Given the description of an element on the screen output the (x, y) to click on. 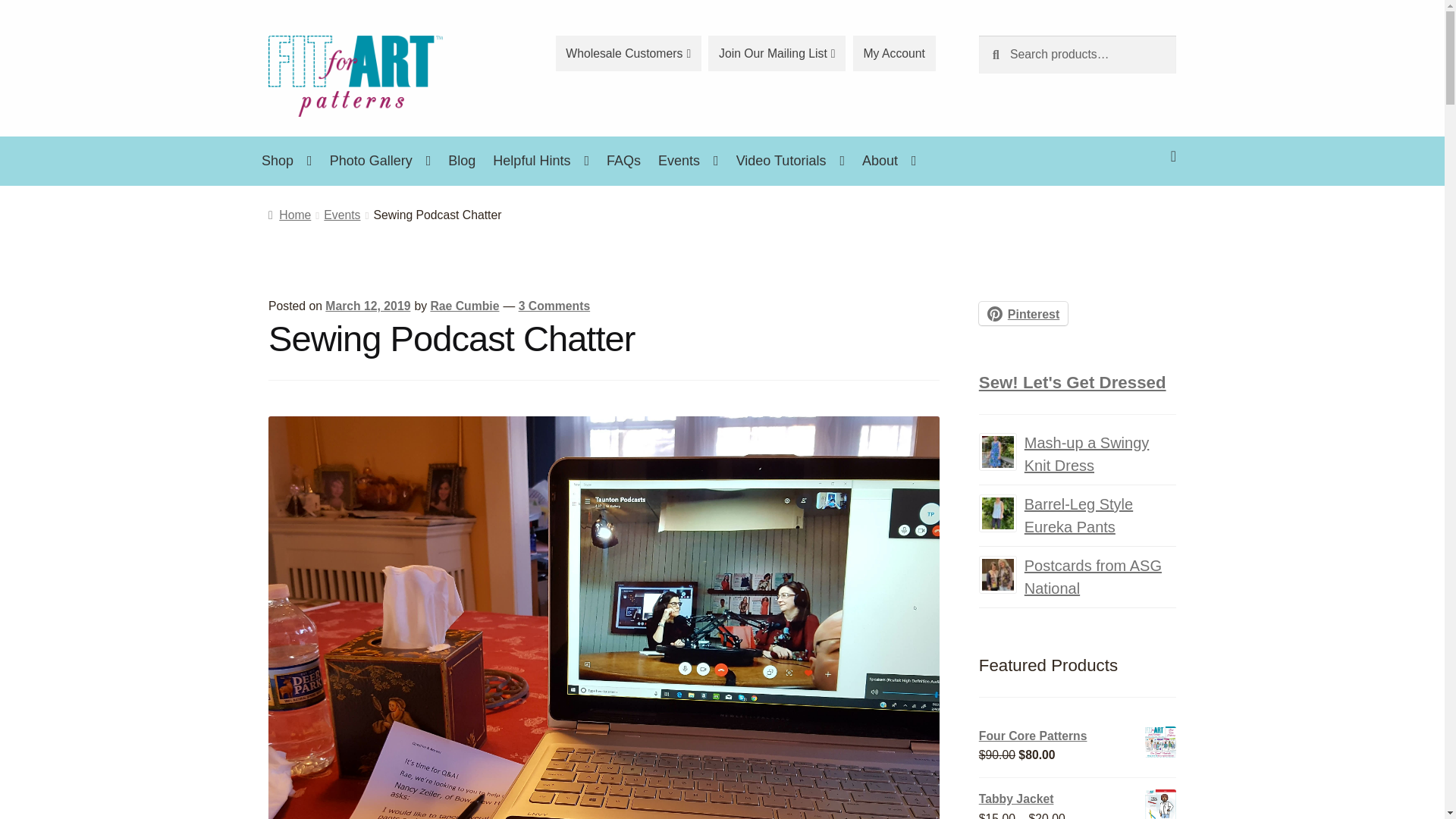
Wholesale Customers (628, 53)
Helpful Hints (540, 160)
Shop (286, 160)
View your shopping cart (1077, 143)
Photo Gallery (380, 160)
Join Our Mailing List (776, 53)
Sew! Let's Get Dressed (1072, 382)
My Account (894, 53)
